Given the description of an element on the screen output the (x, y) to click on. 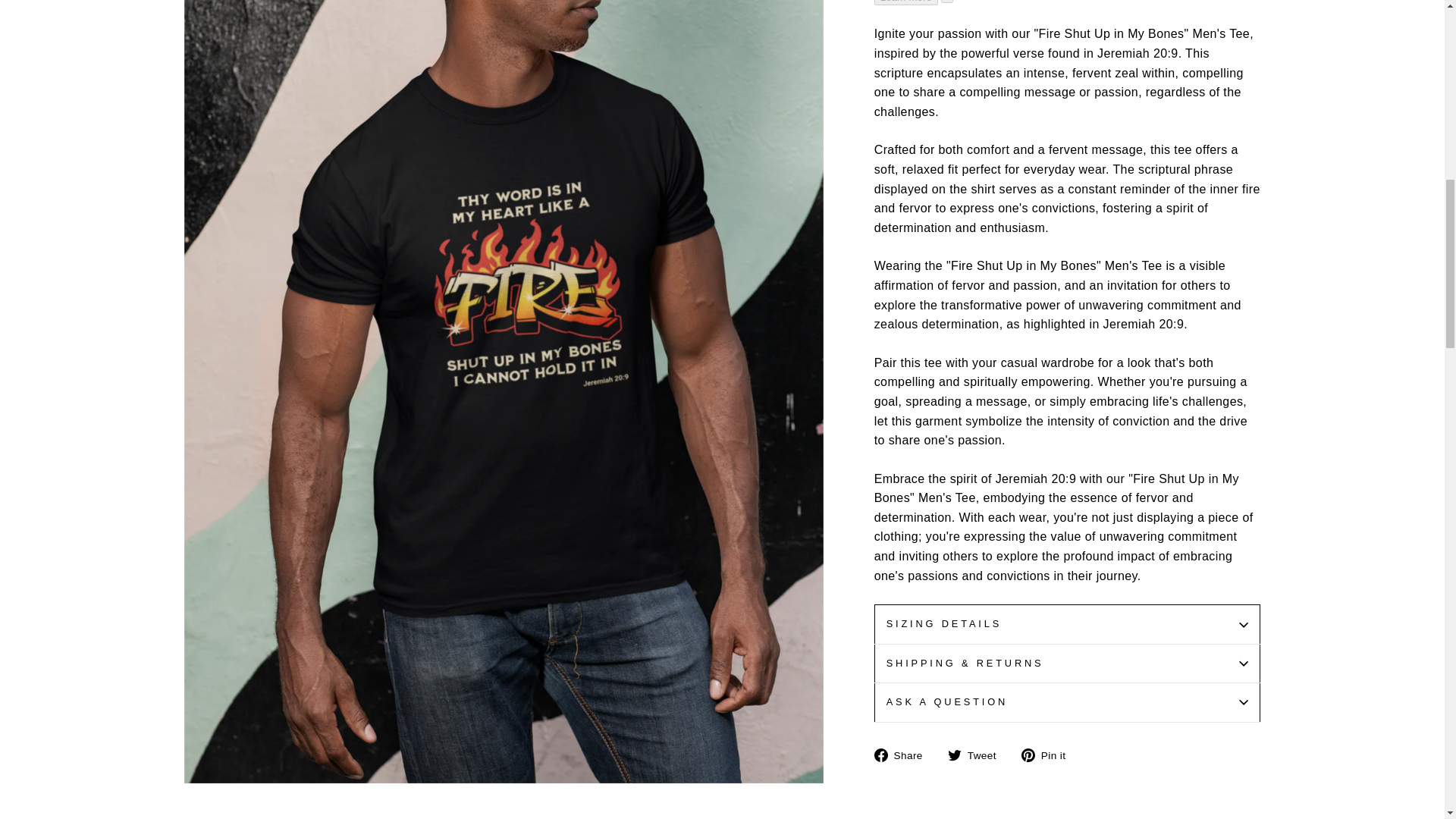
Pin on Pinterest (1049, 754)
ASK A QUESTION (1067, 702)
twitter (953, 755)
Share on Facebook (904, 754)
Tweet on Twitter (977, 754)
SIZING DETAILS (1067, 623)
